Given the description of an element on the screen output the (x, y) to click on. 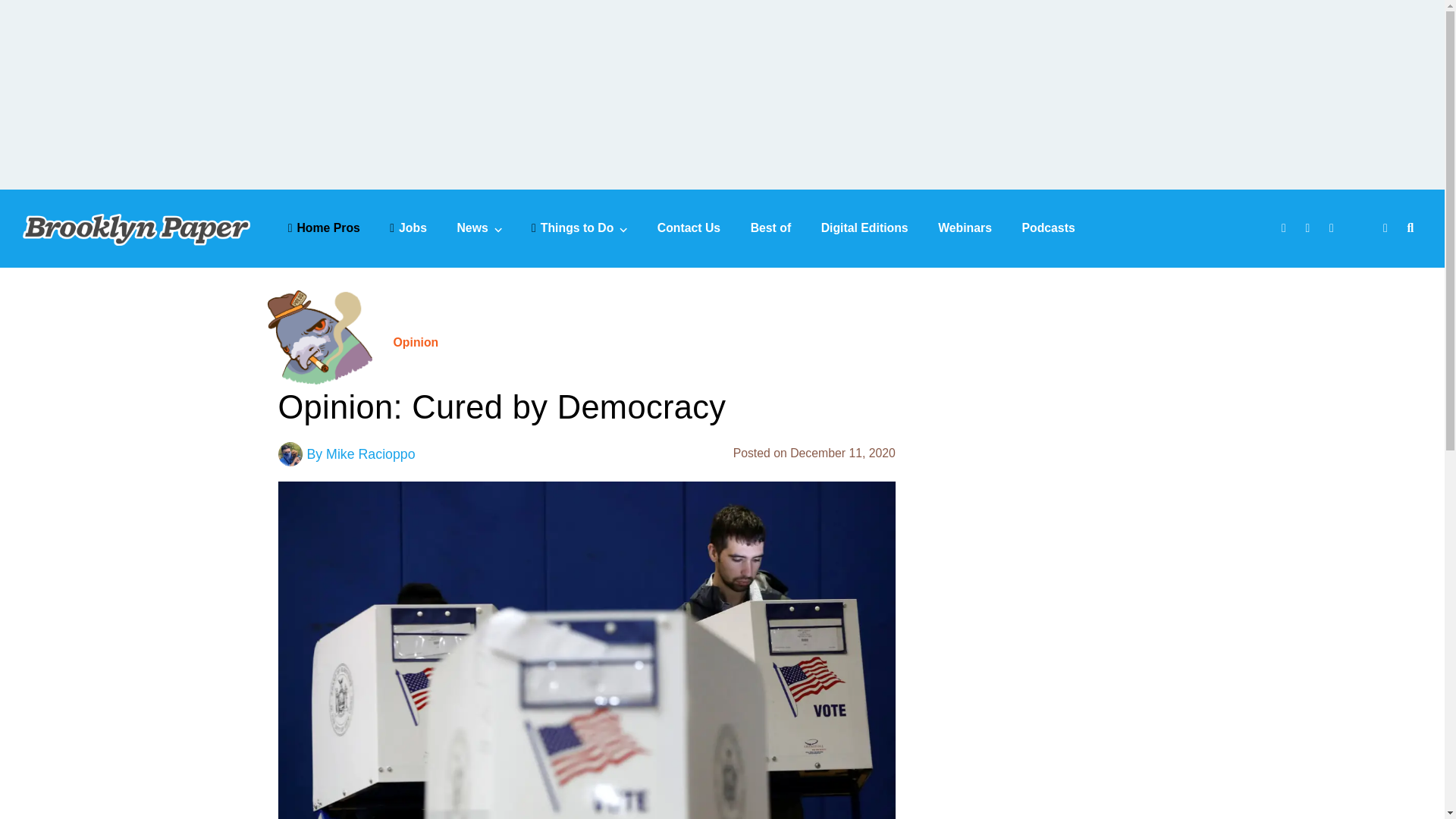
Digital Editions (864, 227)
Podcasts (1048, 227)
Contact Us (689, 227)
Posts by Mike Racioppo (370, 453)
Instagram (1333, 228)
Best of (771, 227)
News (478, 227)
Webinars (964, 227)
Jobs (408, 227)
Home Pros (323, 227)
Facebook (1285, 228)
Things to Do (579, 227)
Twitter (1310, 228)
